Given the description of an element on the screen output the (x, y) to click on. 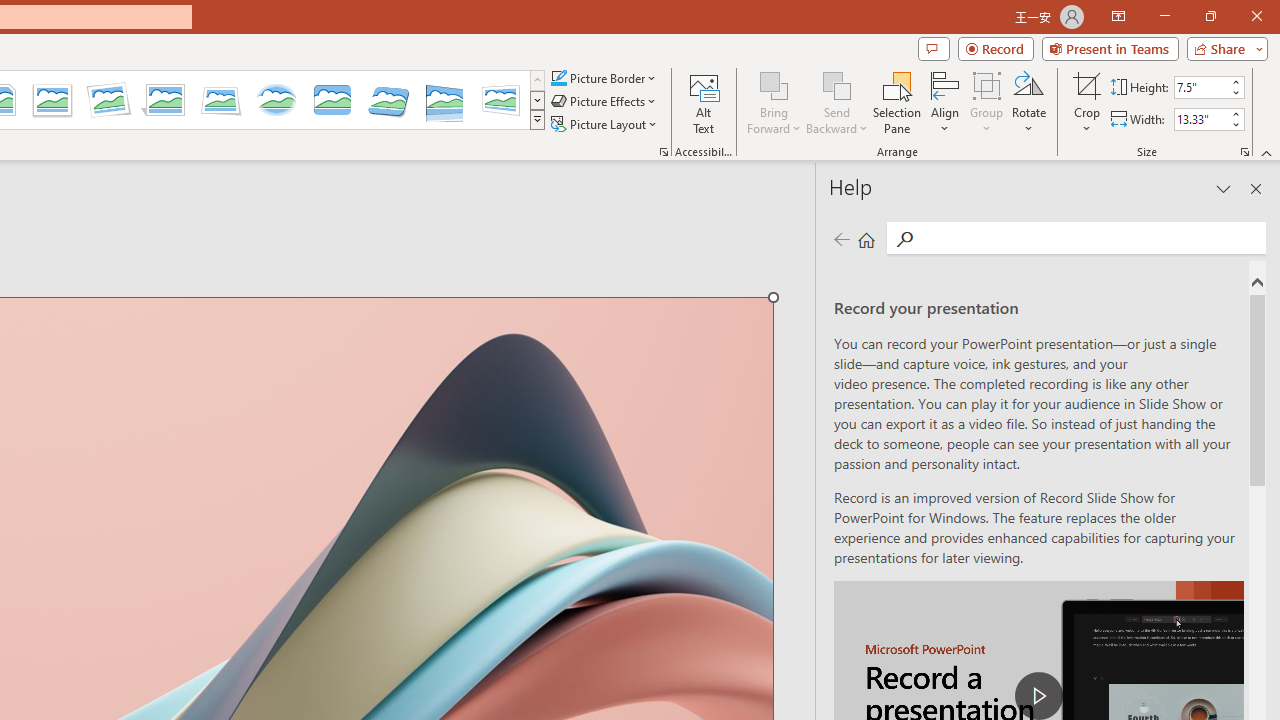
Soft Edge Oval (276, 100)
Bevel Rectangle (332, 100)
Search (904, 238)
Comments (933, 48)
Home (866, 238)
Selection Pane... (897, 102)
Less (1235, 124)
Close (1256, 16)
play Record a Presentation (1038, 695)
Row Down (537, 100)
Picture Border (603, 78)
Bevel Perspective Left, White (500, 100)
Send Backward (836, 84)
Restore Down (1210, 16)
Picture Effects (605, 101)
